Given the description of an element on the screen output the (x, y) to click on. 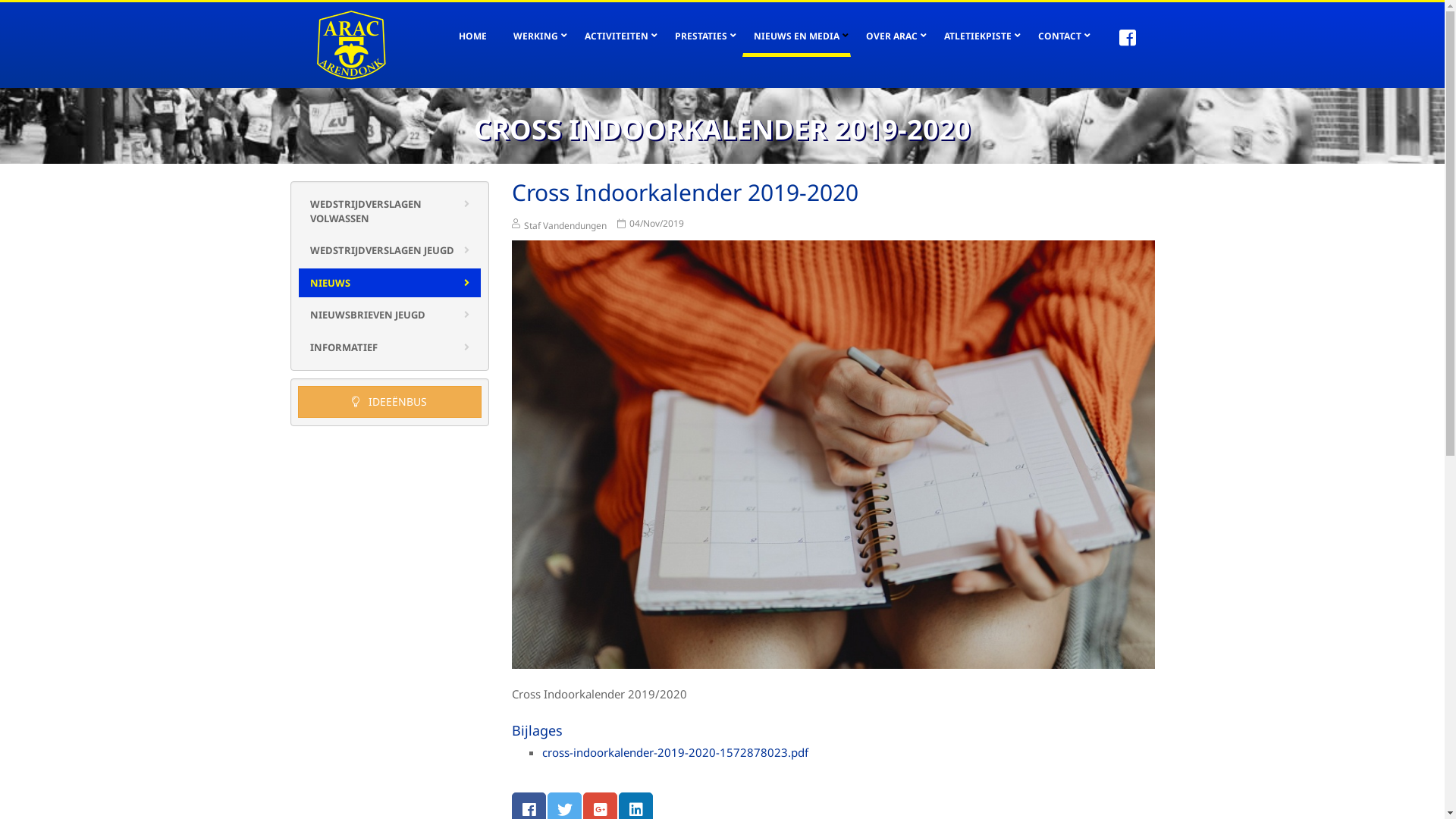
WEDSTRIJDVERSLAGEN JEUGD Element type: text (389, 250)
OVER ARAC Element type: text (890, 35)
INFORMATIEF Element type: text (389, 347)
WERKING Element type: text (535, 35)
ACTIVITEITEN Element type: text (616, 35)
PRESTATIES Element type: text (699, 35)
CONTACT Element type: text (1059, 35)
NIEUWS EN MEDIA Element type: text (795, 37)
ATLETIEKPISTE Element type: text (977, 35)
WEDSTRIJDVERSLAGEN VOLWASSEN Element type: text (389, 210)
HOME Element type: text (472, 35)
cross-indoorkalender-2019-2020-1572878023.pdf Element type: text (675, 751)
NIEUWSBRIEVEN JEUGD Element type: text (389, 314)
NIEUWS Element type: text (389, 282)
